Given the description of an element on the screen output the (x, y) to click on. 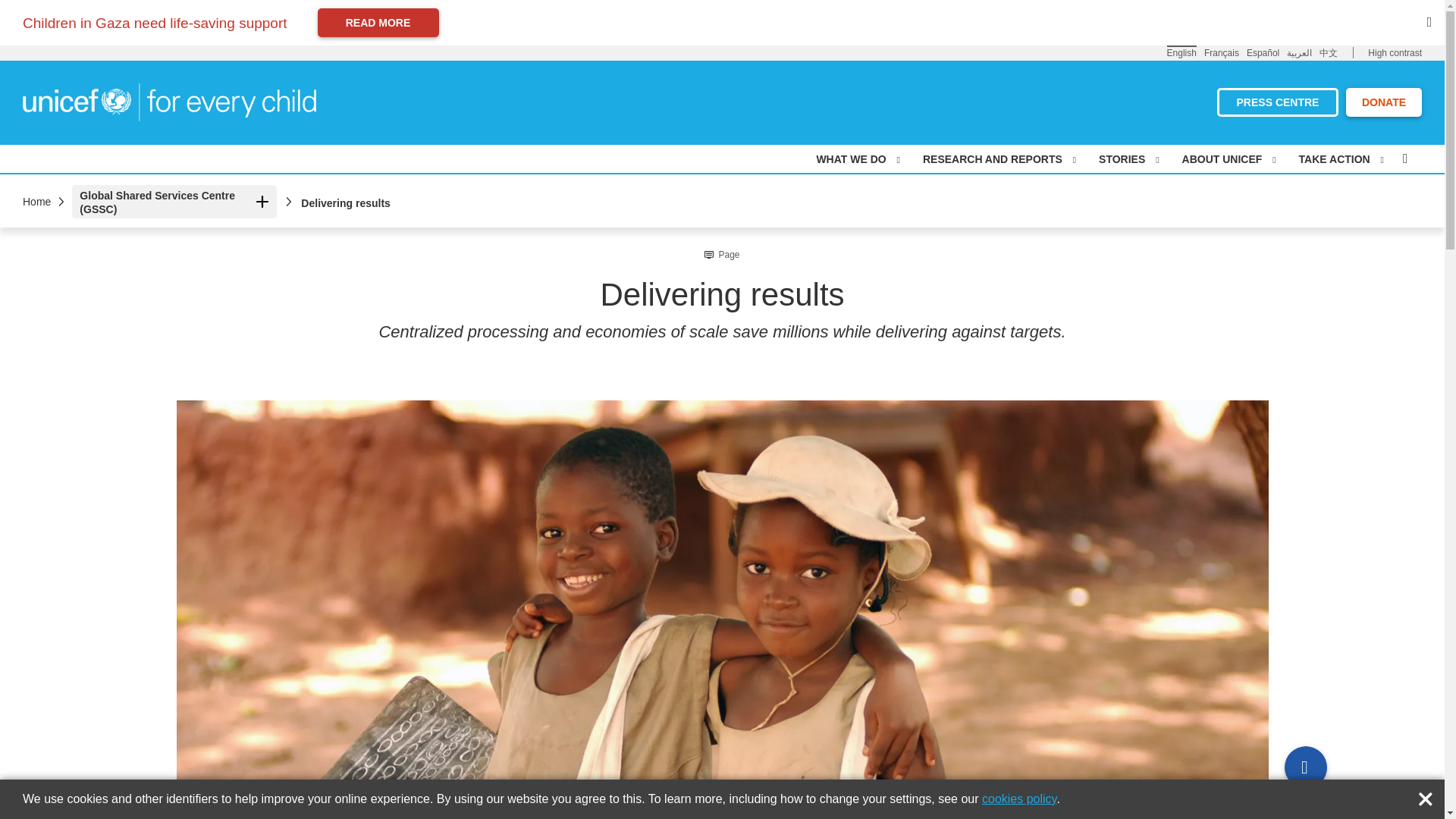
High contrast (1395, 52)
WHAT WE DO (857, 159)
DONATE (1383, 102)
UNICEF (169, 100)
English (1181, 51)
READ MORE (378, 22)
Ok (1428, 794)
cookies policy (1019, 798)
PRESS CENTRE (1277, 102)
